Given the description of an element on the screen output the (x, y) to click on. 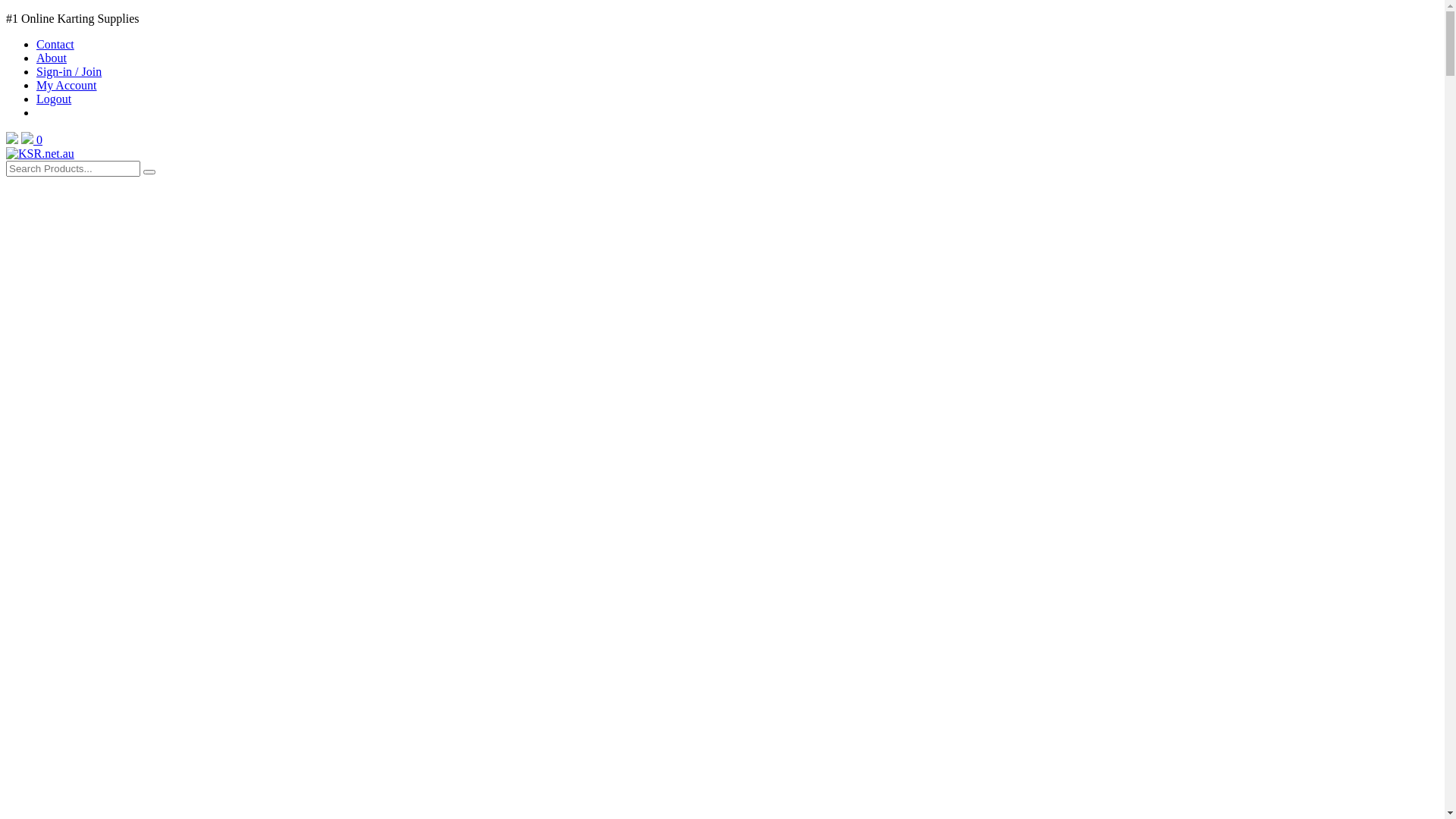
Home Element type: hover (40, 153)
Logout Element type: text (53, 98)
My Account Element type: text (66, 84)
Sign-in / Join Element type: text (68, 71)
About Element type: text (51, 57)
0 Element type: text (31, 139)
Contact Element type: text (55, 43)
